Given the description of an element on the screen output the (x, y) to click on. 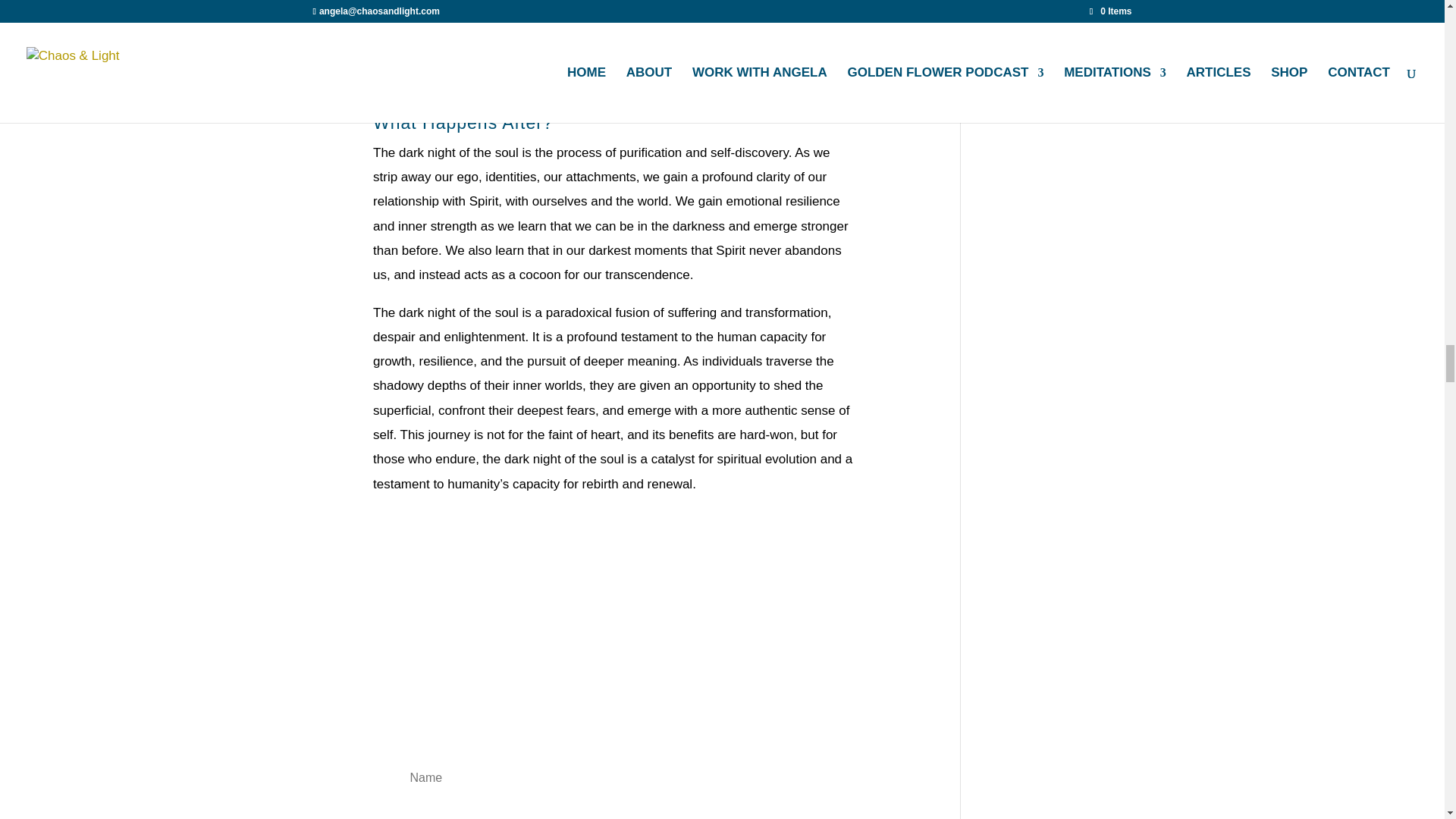
Experiencing an Abrupt Transition? Work with Angela (613, 90)
